Given the description of an element on the screen output the (x, y) to click on. 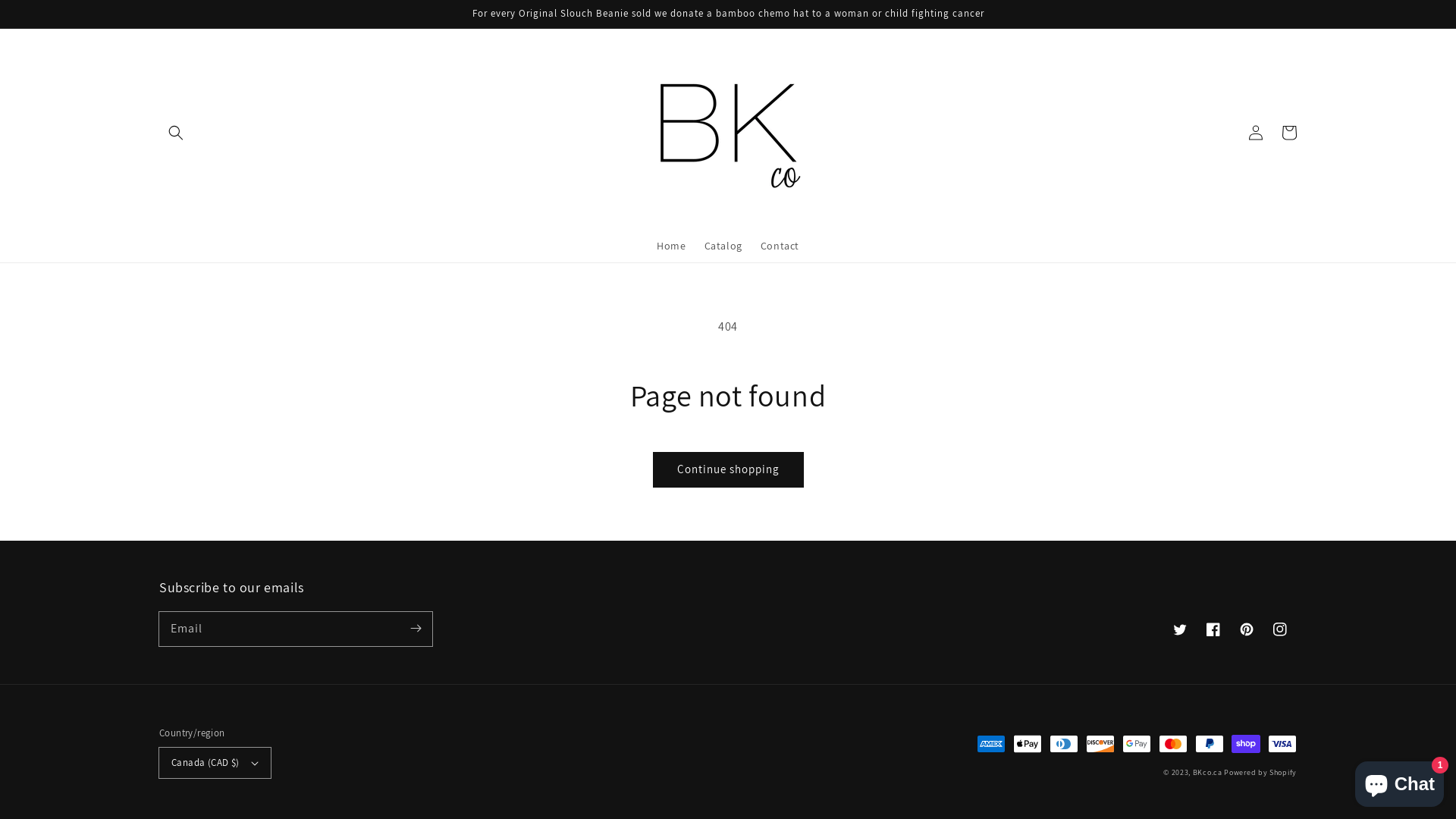
Continue shopping Element type: text (728, 469)
Instagram Element type: text (1279, 629)
Canada (CAD $) Element type: text (214, 762)
Cart Element type: text (1288, 132)
Home Element type: text (670, 245)
Log in Element type: text (1255, 132)
Pinterest Element type: text (1246, 629)
BKco.ca Element type: text (1207, 772)
Shopify online store chat Element type: hover (1399, 780)
Twitter Element type: text (1179, 629)
Powered by Shopify Element type: text (1259, 772)
Catalog Element type: text (722, 245)
Contact Element type: text (779, 245)
Facebook Element type: text (1213, 629)
